Given the description of an element on the screen output the (x, y) to click on. 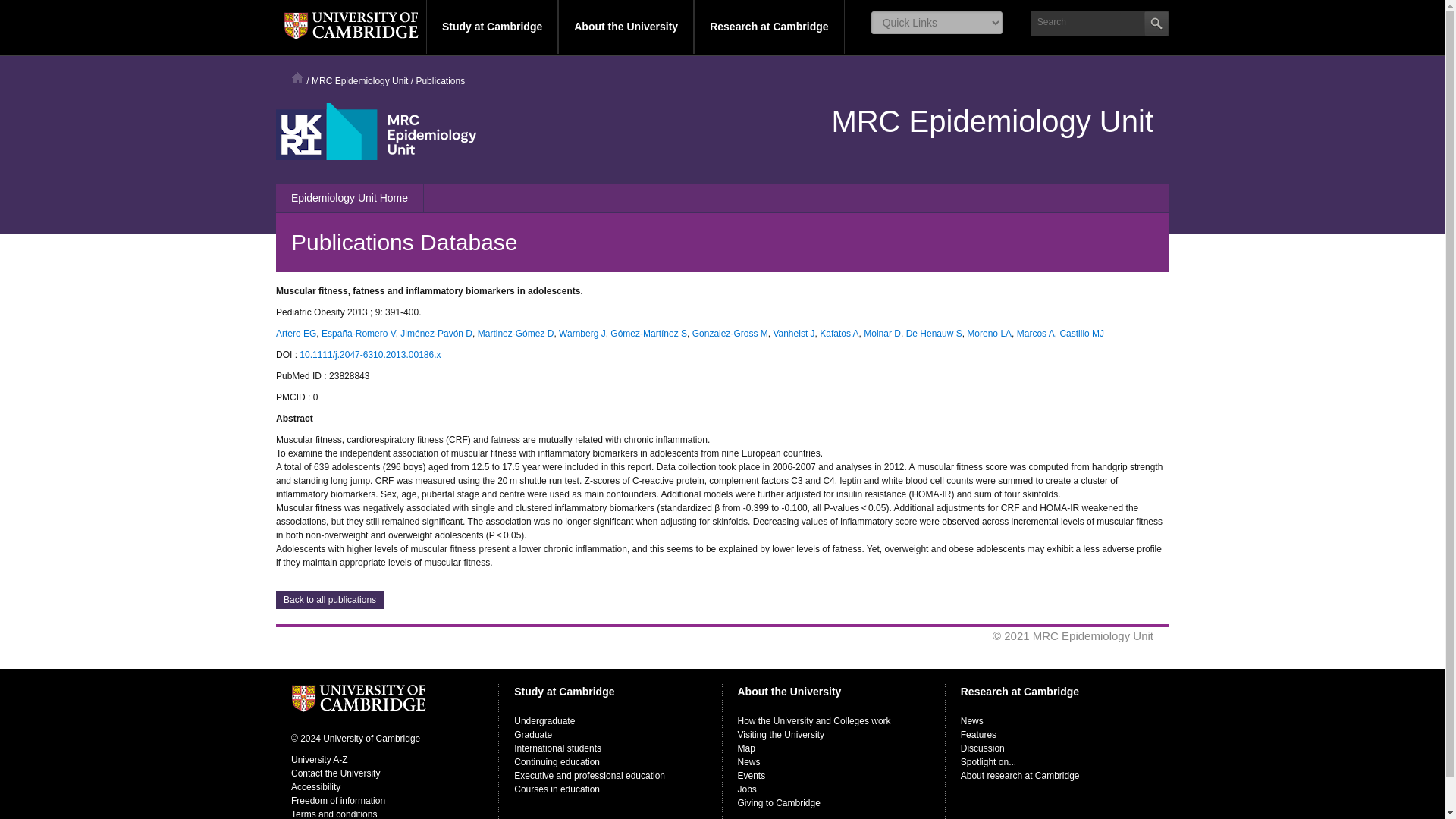
About the University (625, 27)
Study at Cambridge (491, 27)
Research at Cambridge (769, 27)
